Given the description of an element on the screen output the (x, y) to click on. 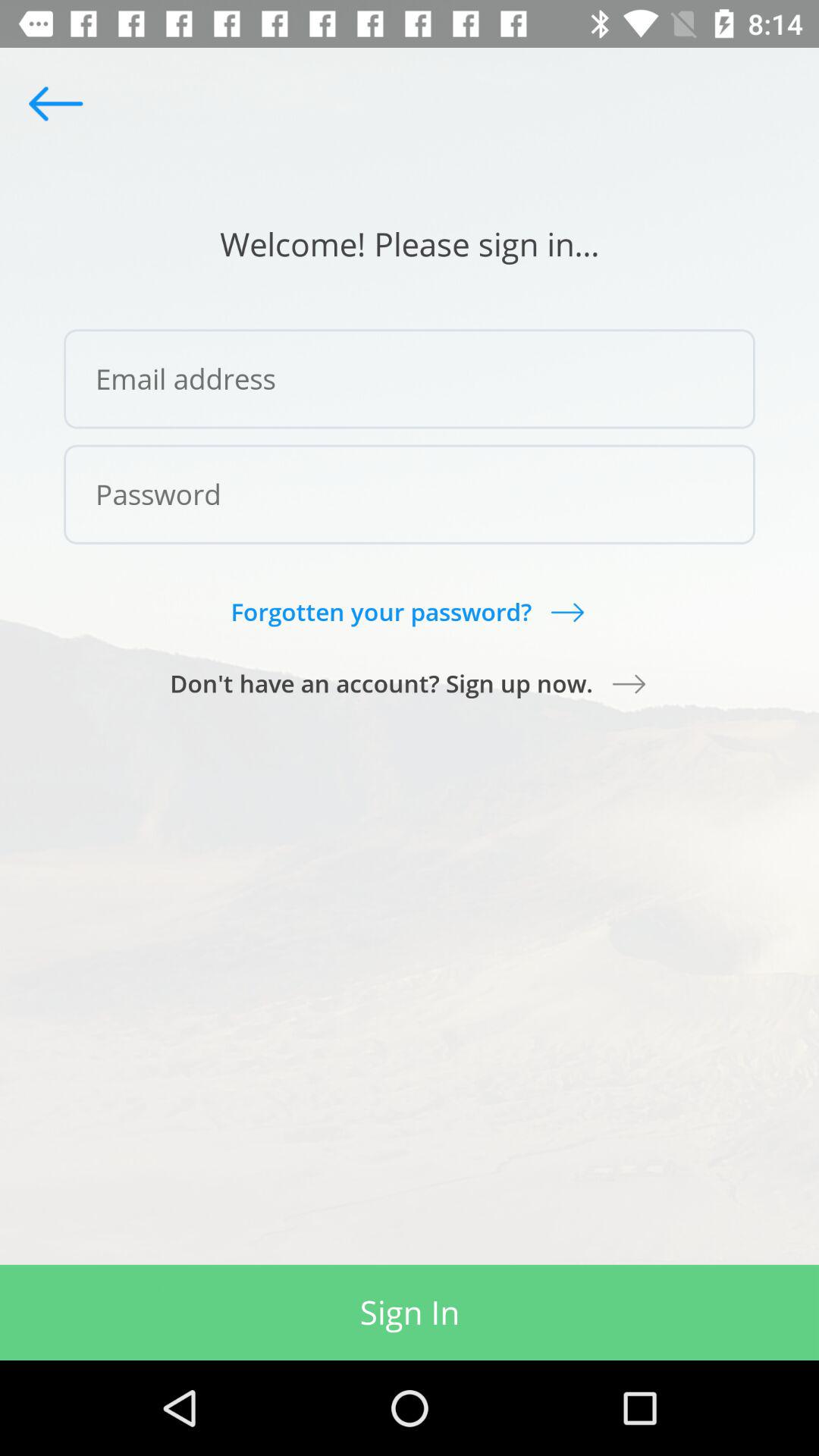
select the icon at the top left corner (55, 103)
